Given the description of an element on the screen output the (x, y) to click on. 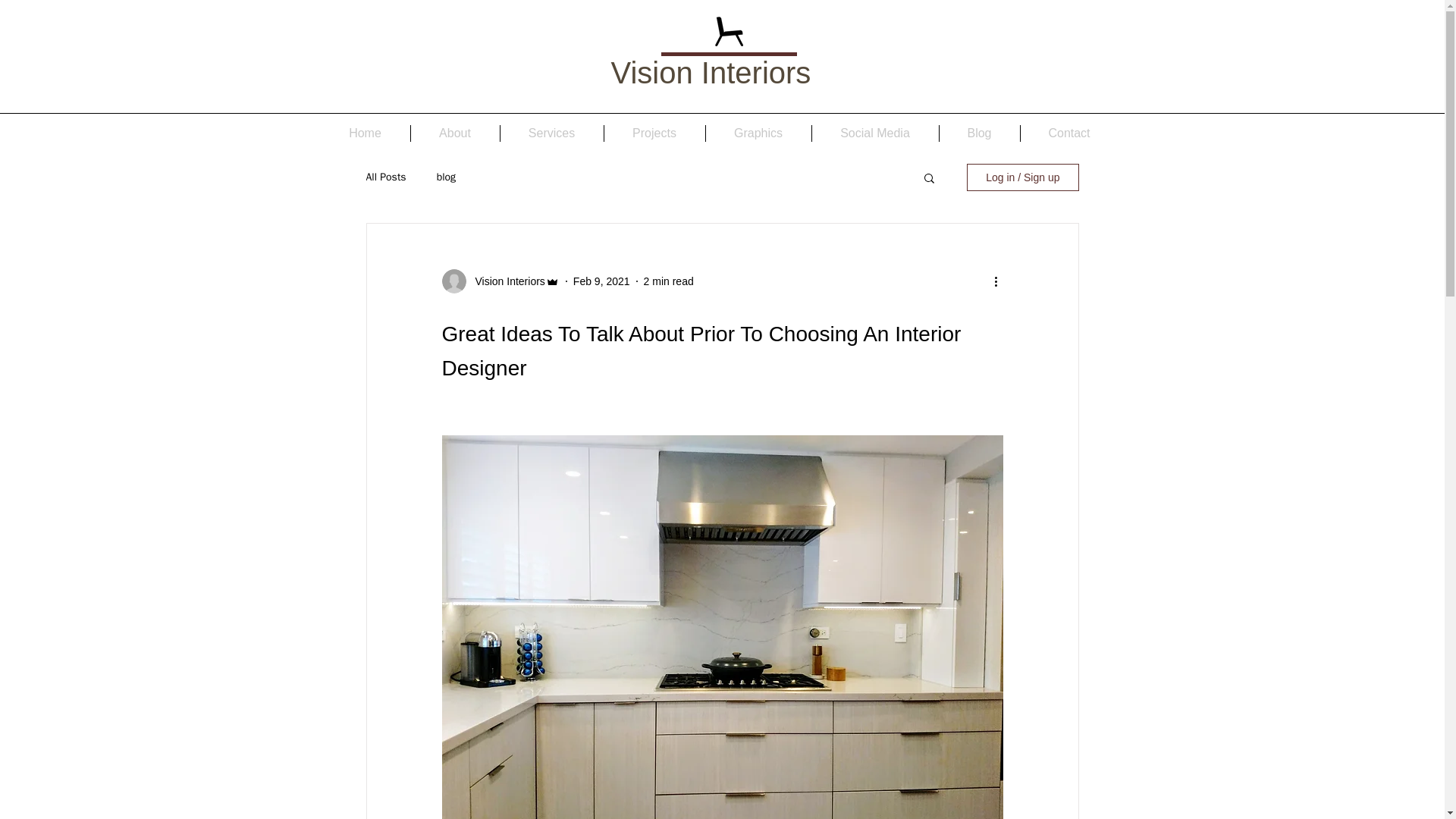
Contact (1069, 133)
blog (445, 177)
Home (364, 133)
Vision Interiors  (504, 280)
Graphics (757, 133)
2 min read (668, 280)
Feb 9, 2021 (601, 280)
Blog (979, 133)
Projects (654, 133)
Vision (652, 72)
